Given the description of an element on the screen output the (x, y) to click on. 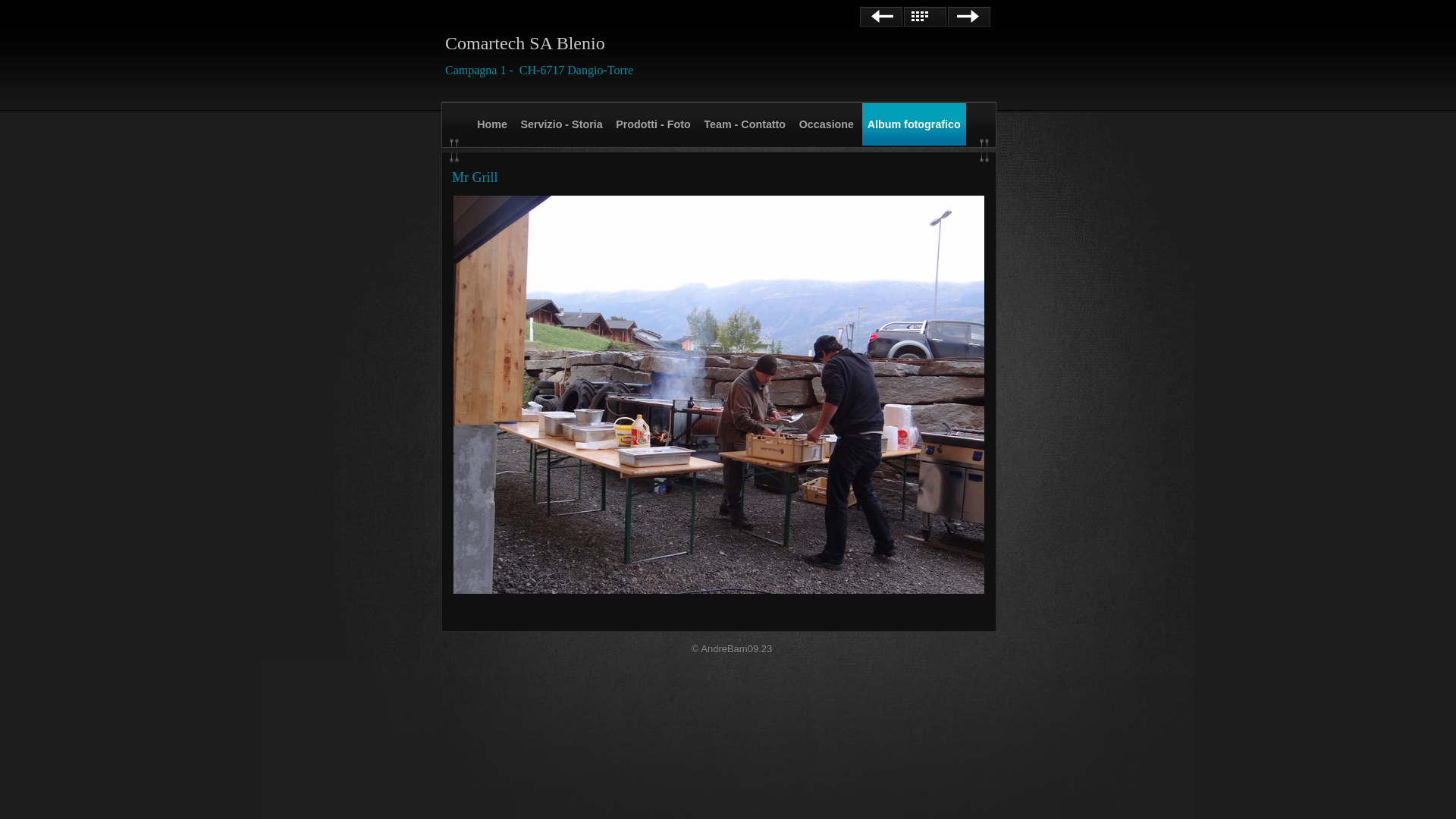
Album fotografico Element type: text (914, 124)
Comartech SA Blenio Element type: text (525, 43)
Prodotti - Foto Element type: text (652, 124)
Avanti Element type: text (968, 16)
Servizio - Storia Element type: text (561, 124)
Elenco Element type: text (924, 16)
Precedente Element type: text (880, 16)
Home Element type: text (491, 124)
Team - Contatto Element type: text (744, 124)
Occasione Element type: text (826, 124)
